Given the description of an element on the screen output the (x, y) to click on. 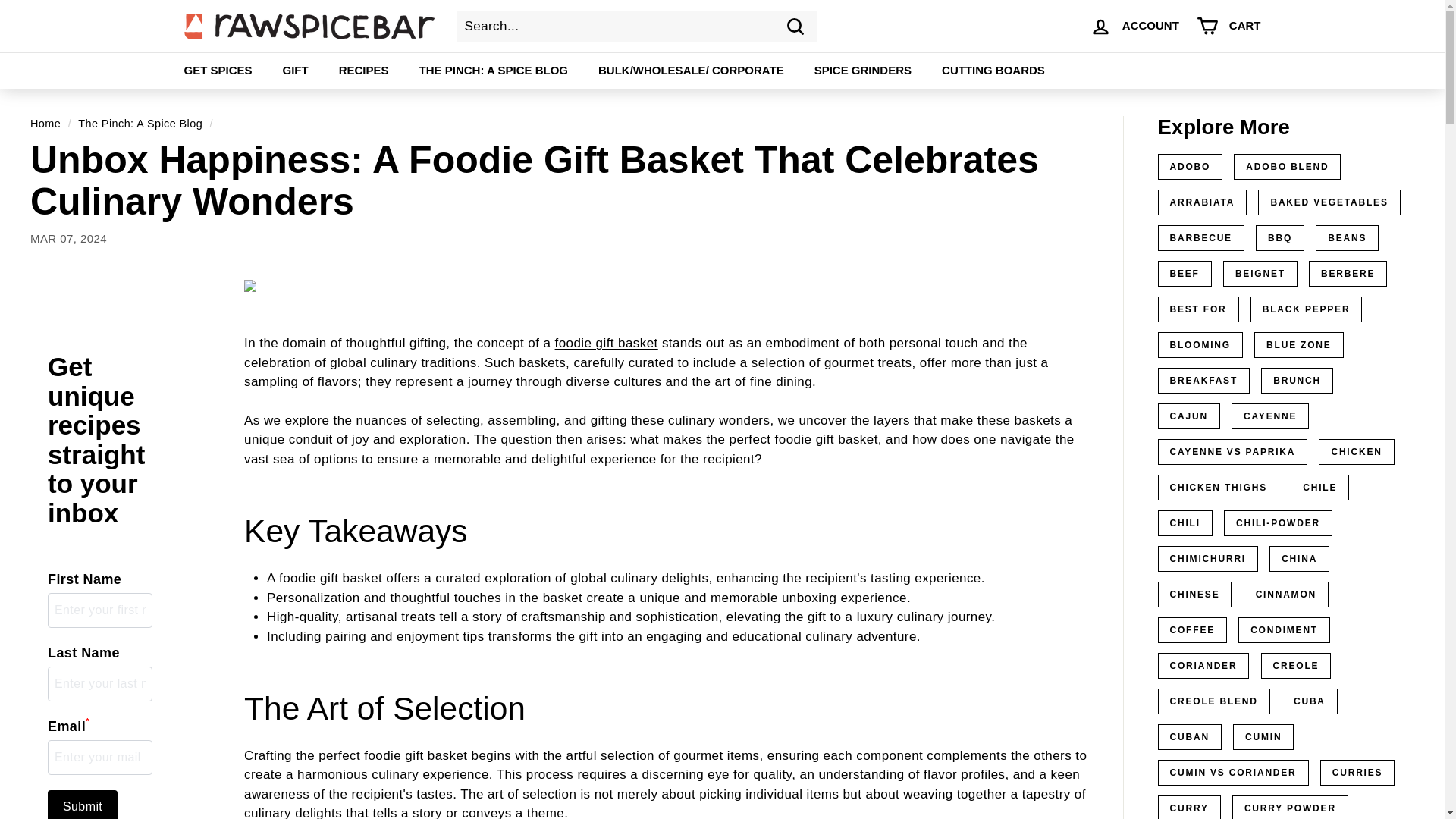
Back to the frontpage (45, 122)
The Pinch: A Spice Blog (140, 122)
Home (45, 122)
CUTTING BOARDS (992, 70)
RECIPES (363, 70)
GET SPICES (217, 70)
ACCOUNT (1134, 26)
SPICE GRINDERS (862, 70)
THE PINCH: A SPICE BLOG (493, 70)
GIFT (295, 70)
